Given the description of an element on the screen output the (x, y) to click on. 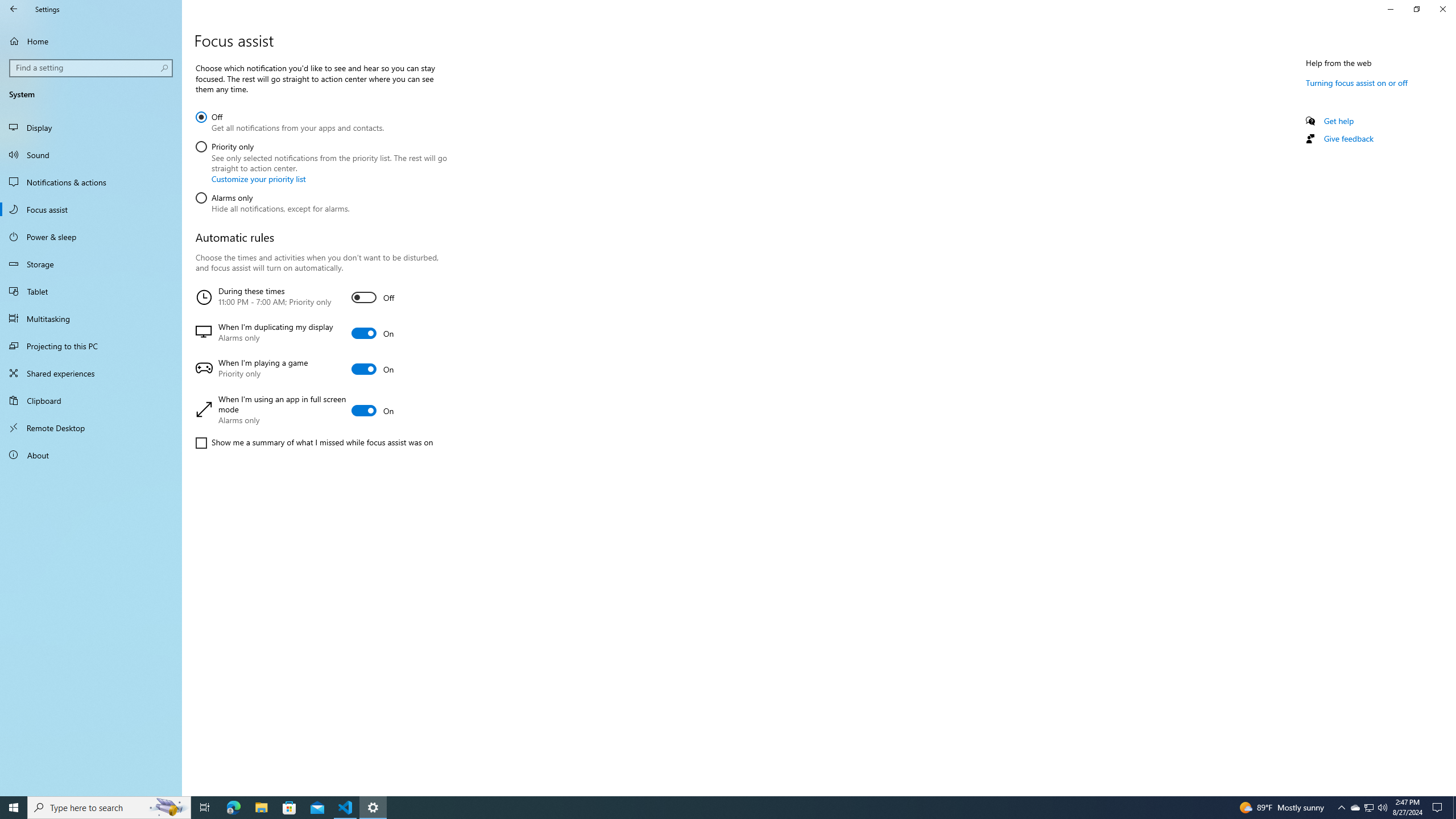
Projecting to this PC (91, 345)
When I'm using an app in full screen mode (319, 410)
Action Center, No new notifications (1439, 807)
Type here to search (108, 807)
Q2790: 100% (1382, 807)
Search highlights icon opens search home window (167, 807)
Multitasking (91, 318)
Power & sleep (91, 236)
Tablet (91, 290)
Search box, Find a setting (91, 67)
Back (13, 9)
Give feedback (1348, 138)
User Promoted Notification Area (1368, 807)
